Given the description of an element on the screen output the (x, y) to click on. 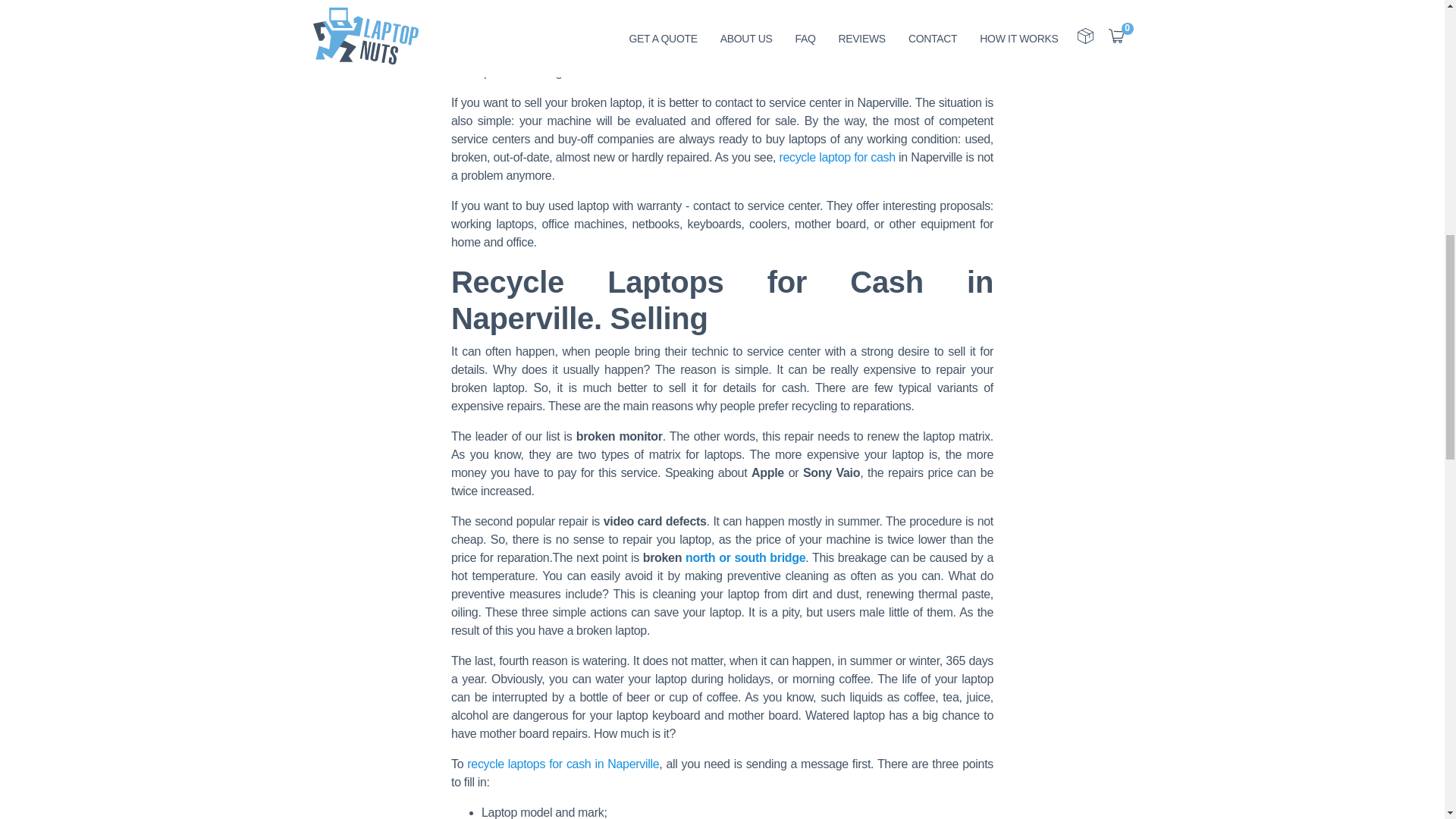
recycle laptops for cash in Naperville (563, 763)
recycle laptop for cash (836, 156)
north or south bridge (745, 557)
